Given the description of an element on the screen output the (x, y) to click on. 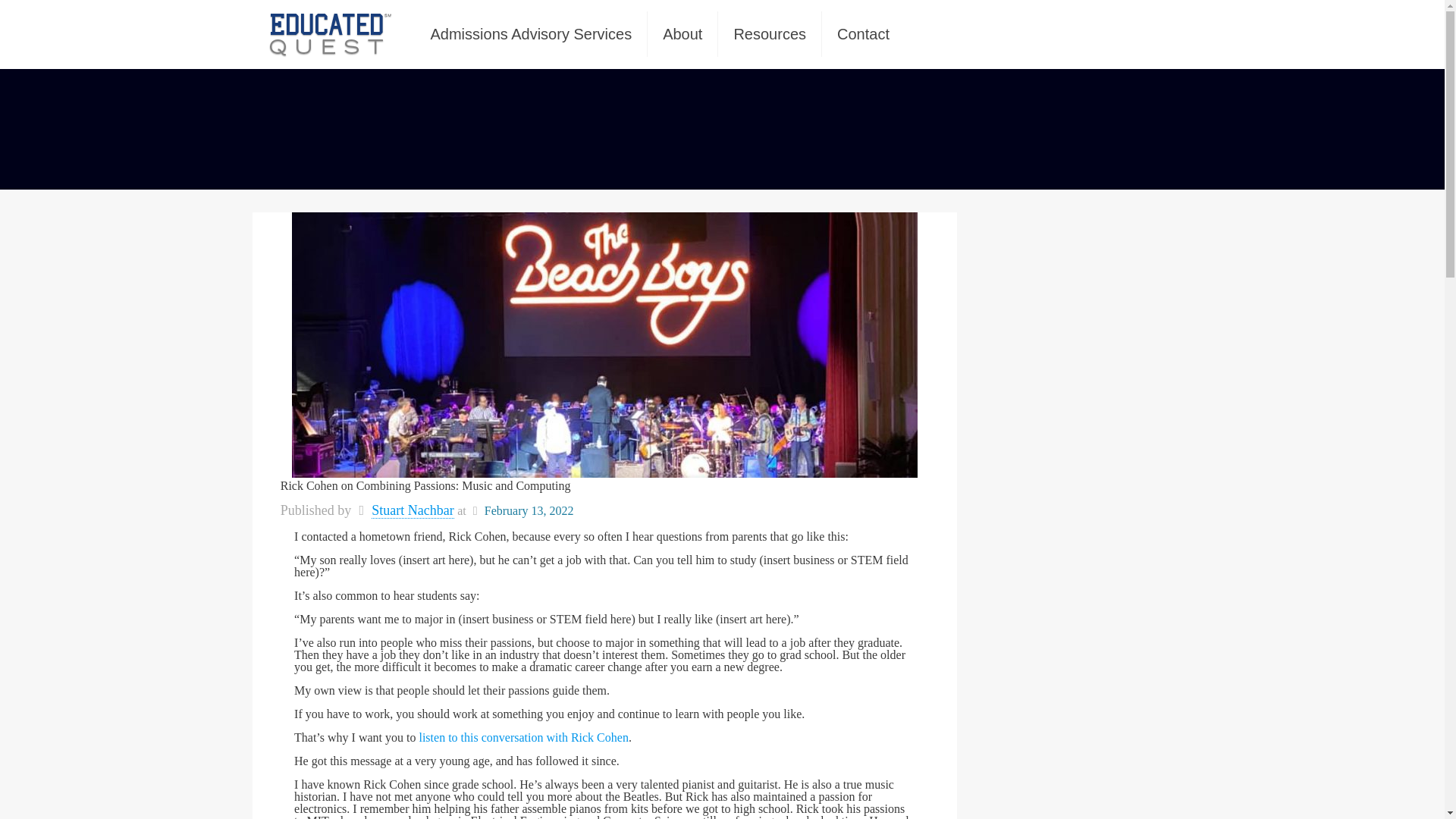
Resources (769, 33)
Contact (863, 33)
About (682, 33)
Stuart Nachbar (411, 510)
Educated Quest (329, 33)
listen to this conversation with Rick Cohen (520, 737)
Admissions Advisory Services (530, 33)
